Given the description of an element on the screen output the (x, y) to click on. 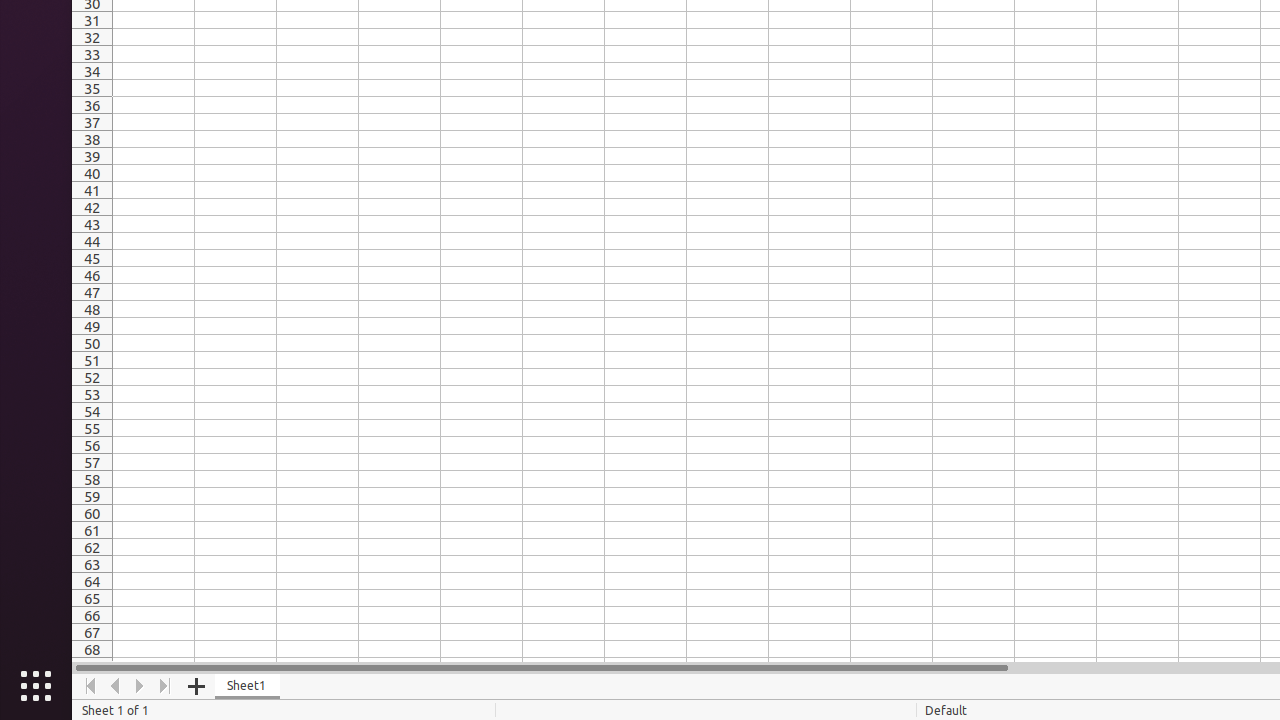
Sheet1 Element type: page-tab (247, 686)
